Given the description of an element on the screen output the (x, y) to click on. 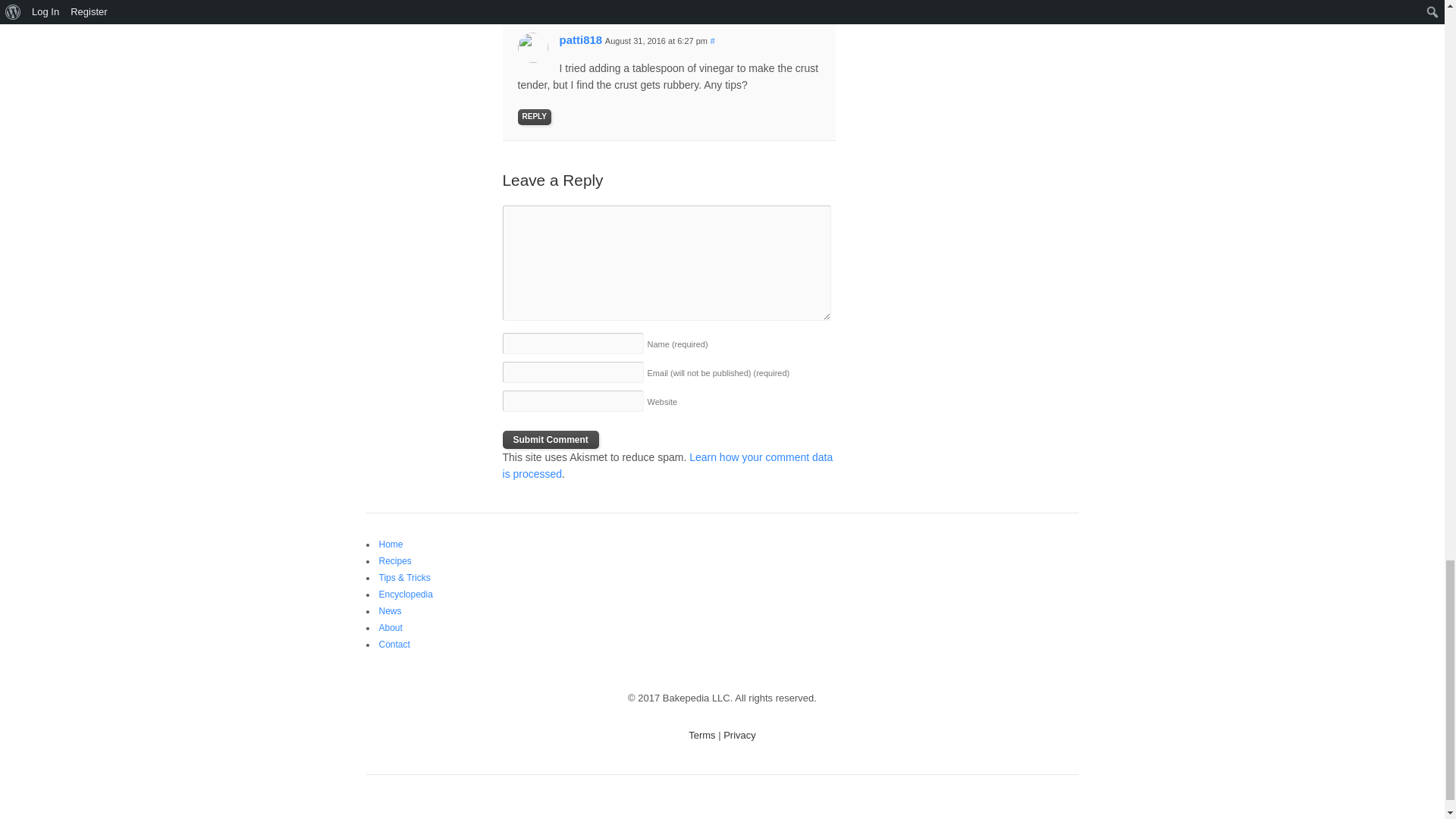
REPLY (534, 116)
Submit Comment (550, 439)
patti818 (580, 39)
Submit Comment (550, 439)
Learn how your comment data is processed (667, 465)
